Given the description of an element on the screen output the (x, y) to click on. 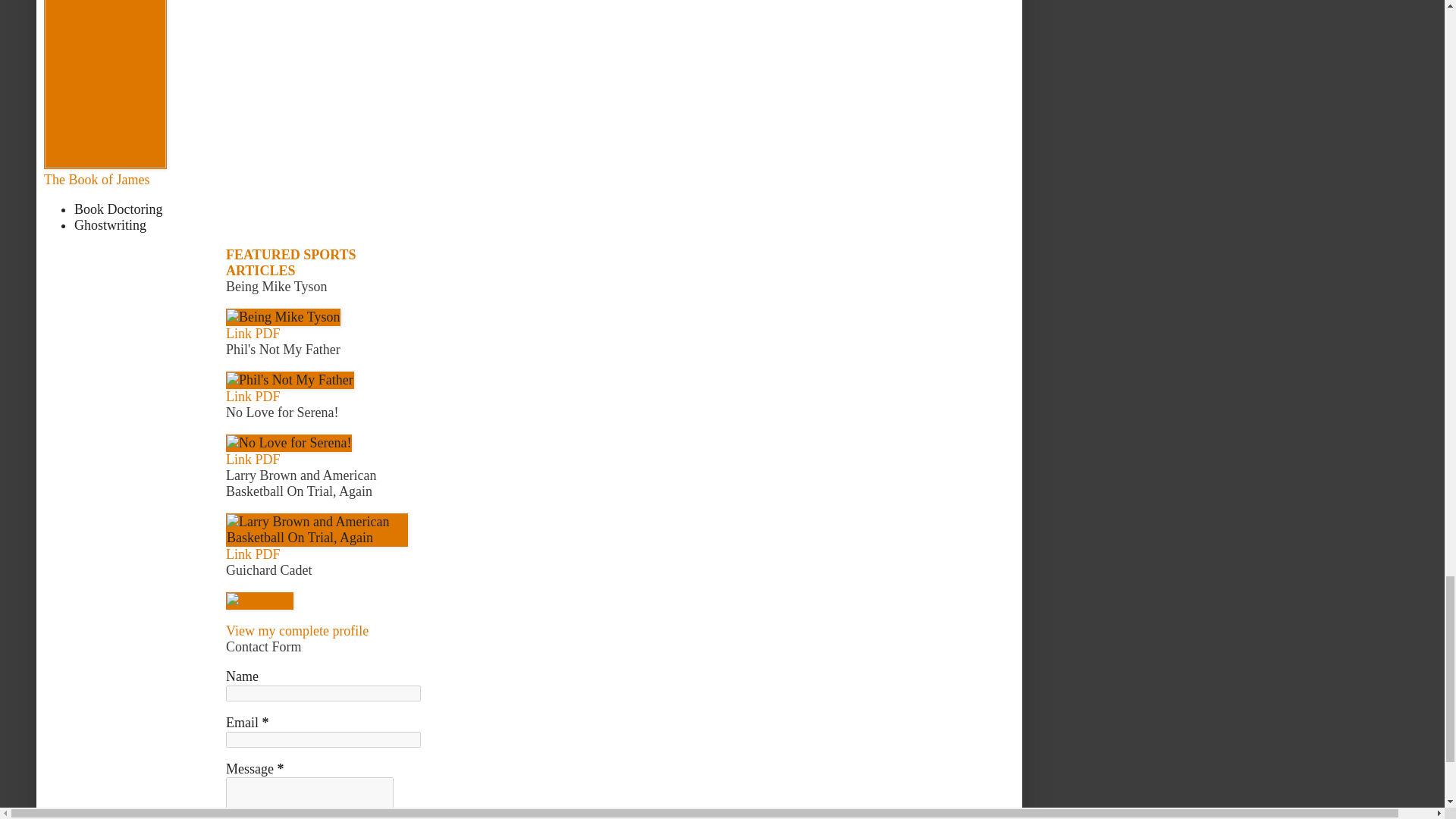
Link (238, 333)
FEATURED SPORTS ARTICLES (290, 262)
Link (238, 554)
PDF (266, 554)
Link (238, 459)
PDF (266, 396)
Link (238, 396)
PDF (266, 333)
PDF (266, 459)
The Book of James (96, 179)
